Given the description of an element on the screen output the (x, y) to click on. 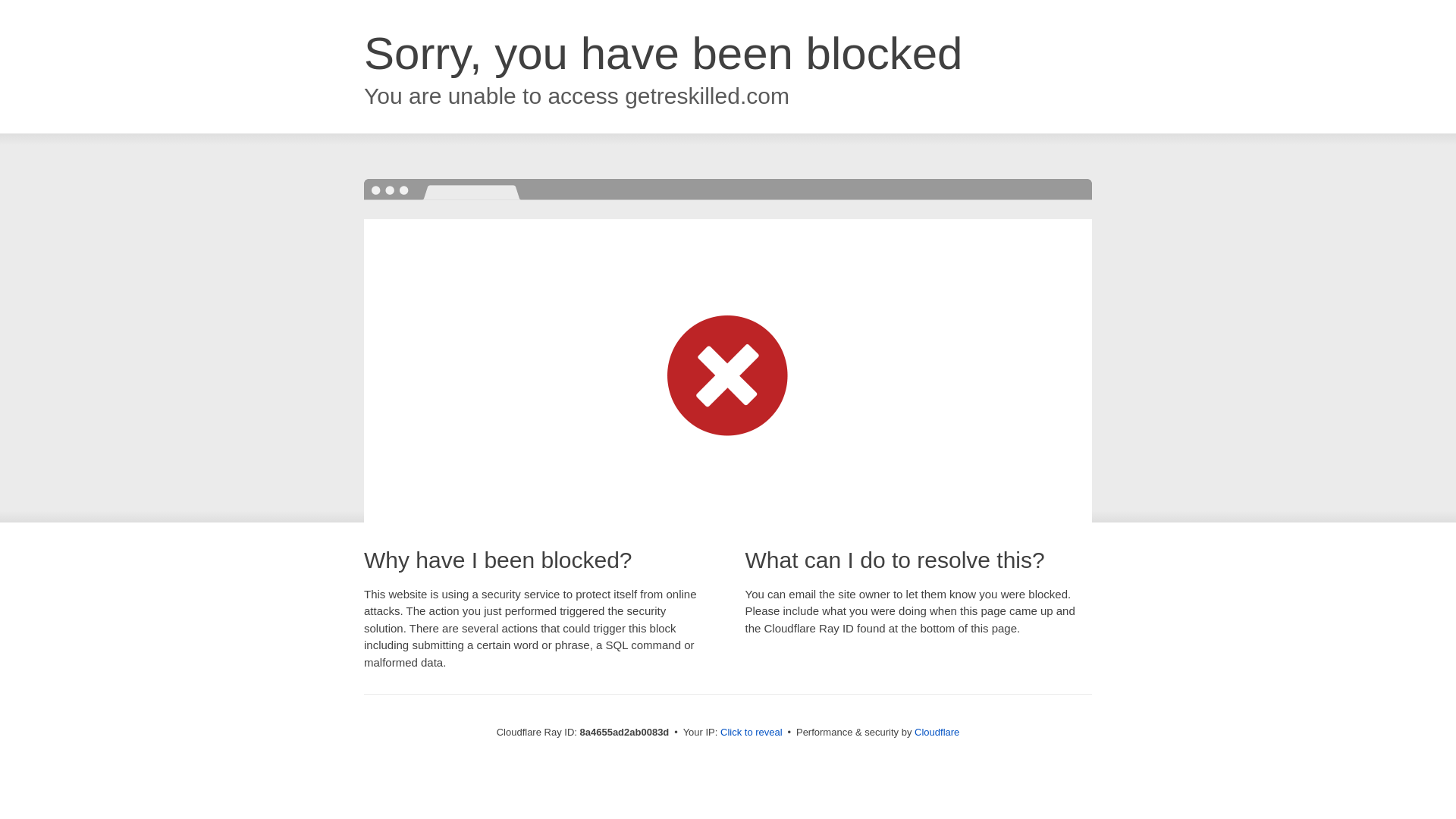
Click to reveal (751, 732)
Cloudflare (936, 731)
